Given the description of an element on the screen output the (x, y) to click on. 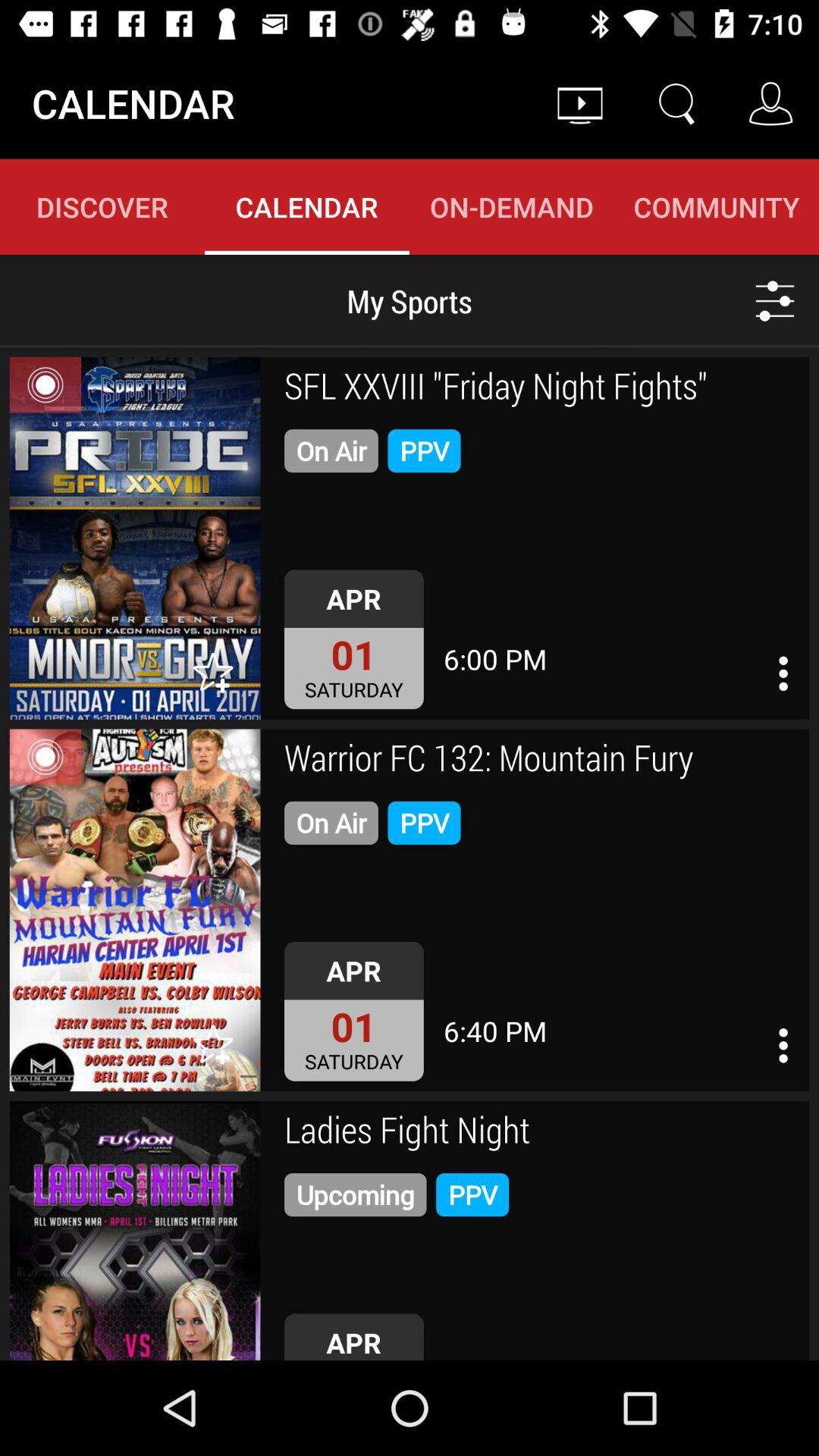
choose icon above the on-demand item (579, 103)
